Given the description of an element on the screen output the (x, y) to click on. 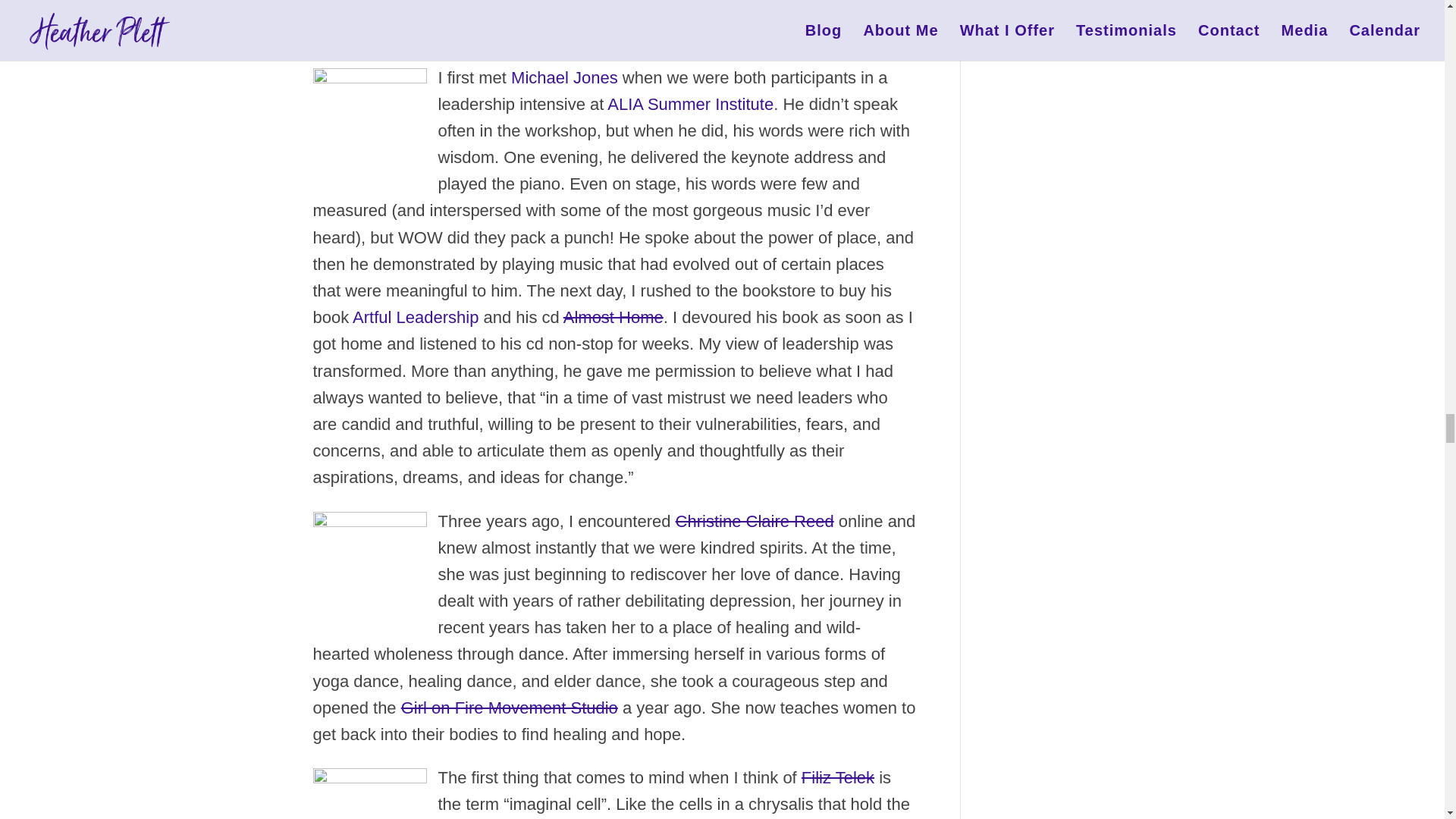
filiz telek (369, 791)
Christine Claire Reed (369, 564)
1 - Michael Jones (369, 120)
